Given the description of an element on the screen output the (x, y) to click on. 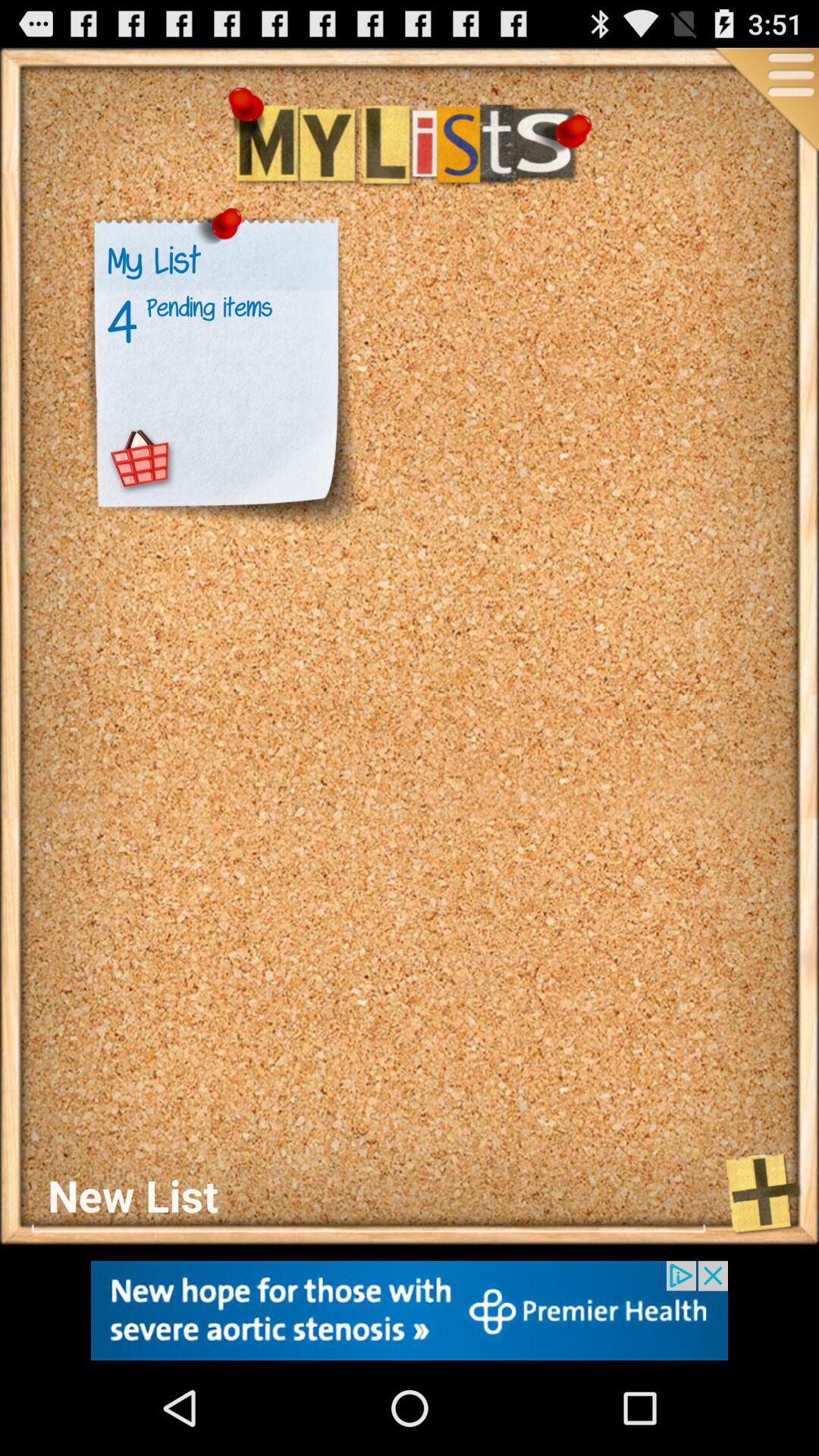
web advertisement (409, 1310)
